Given the description of an element on the screen output the (x, y) to click on. 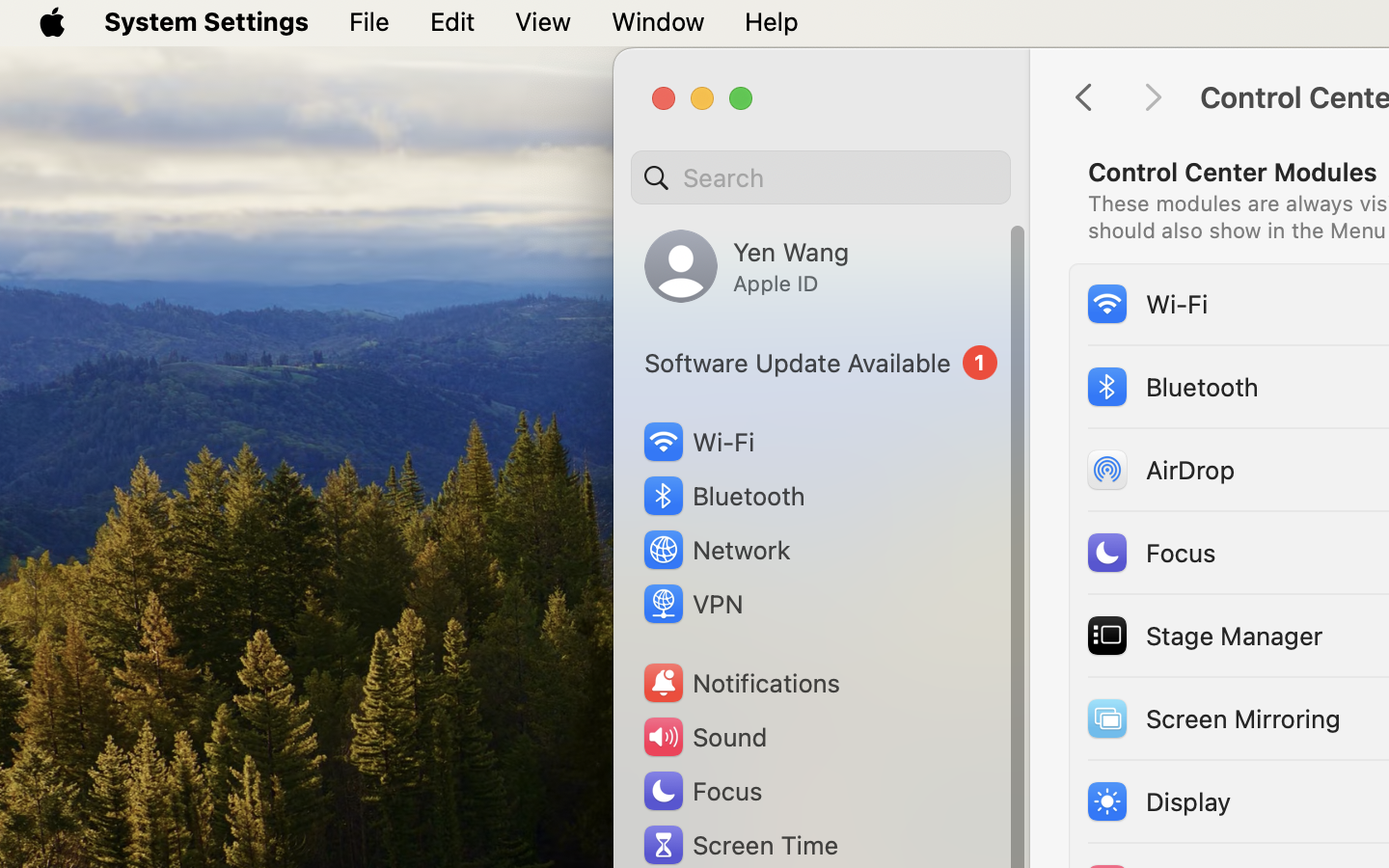
Notifications Element type: AXStaticText (740, 682)
Focus Element type: AXStaticText (1149, 551)
Yen Wang, Apple ID Element type: AXStaticText (746, 265)
